Given the description of an element on the screen output the (x, y) to click on. 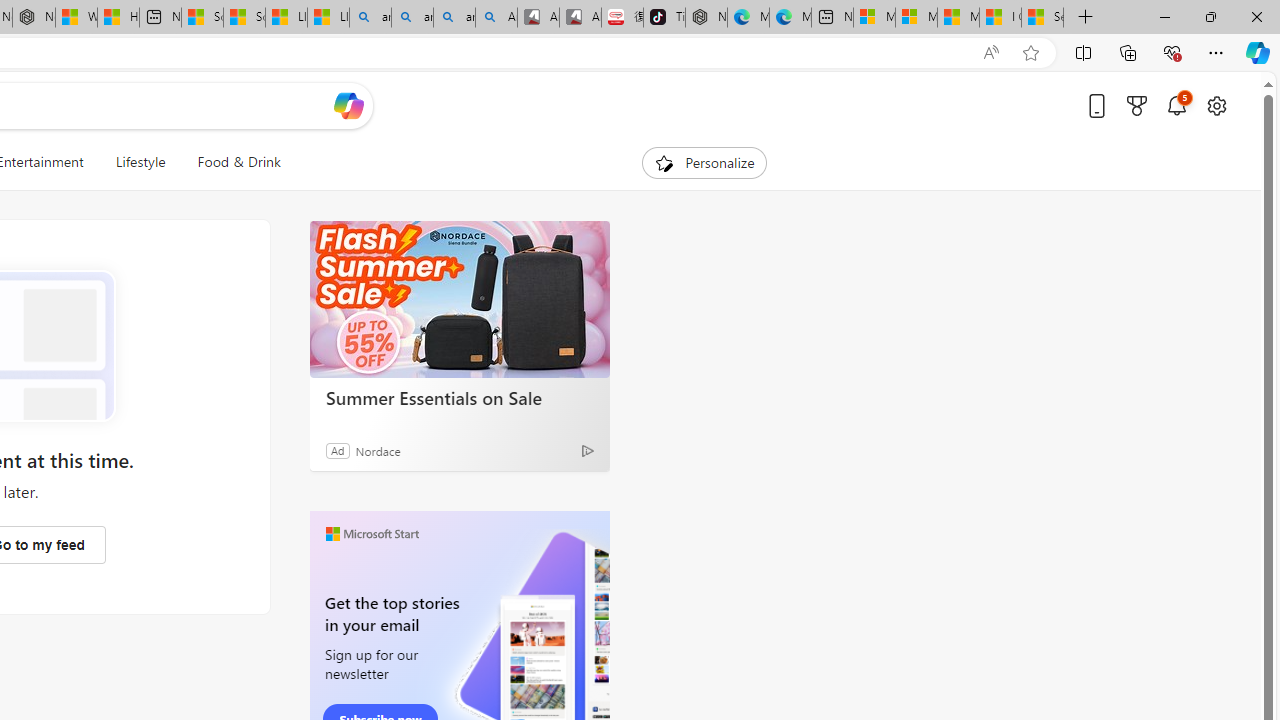
Microsoft account | Privacy (916, 17)
Nordace - Best Sellers (706, 17)
Microsoft rewards (1137, 105)
TikTok (663, 17)
amazon - Search Images (453, 17)
